Given the description of an element on the screen output the (x, y) to click on. 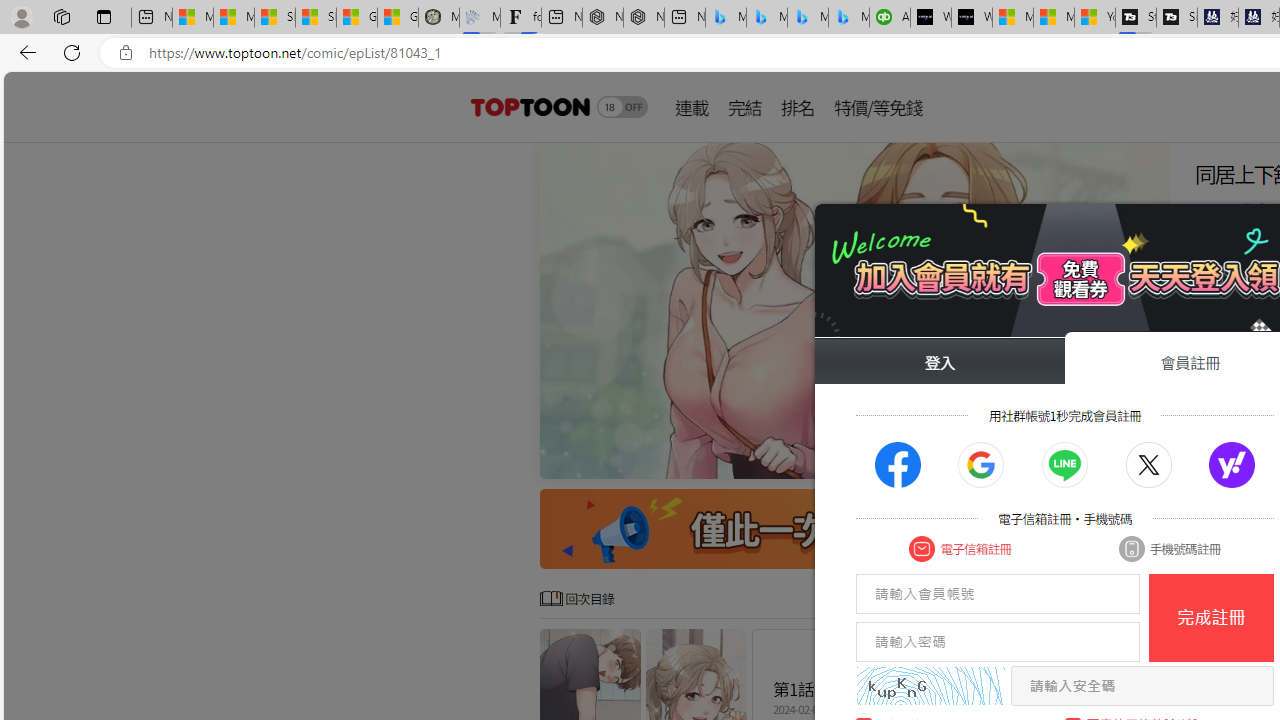
Gilma and Hector both pose tropical trouble for Hawaii (397, 17)
header (527, 106)
captcha (930, 686)
Class:  switch_18mode actionAdultBtn (621, 106)
Class: swiper-slide (854, 310)
Manatee Mortality Statistics | FWC (438, 17)
Microsoft Start (1053, 17)
Tab actions menu (104, 16)
